Given the description of an element on the screen output the (x, y) to click on. 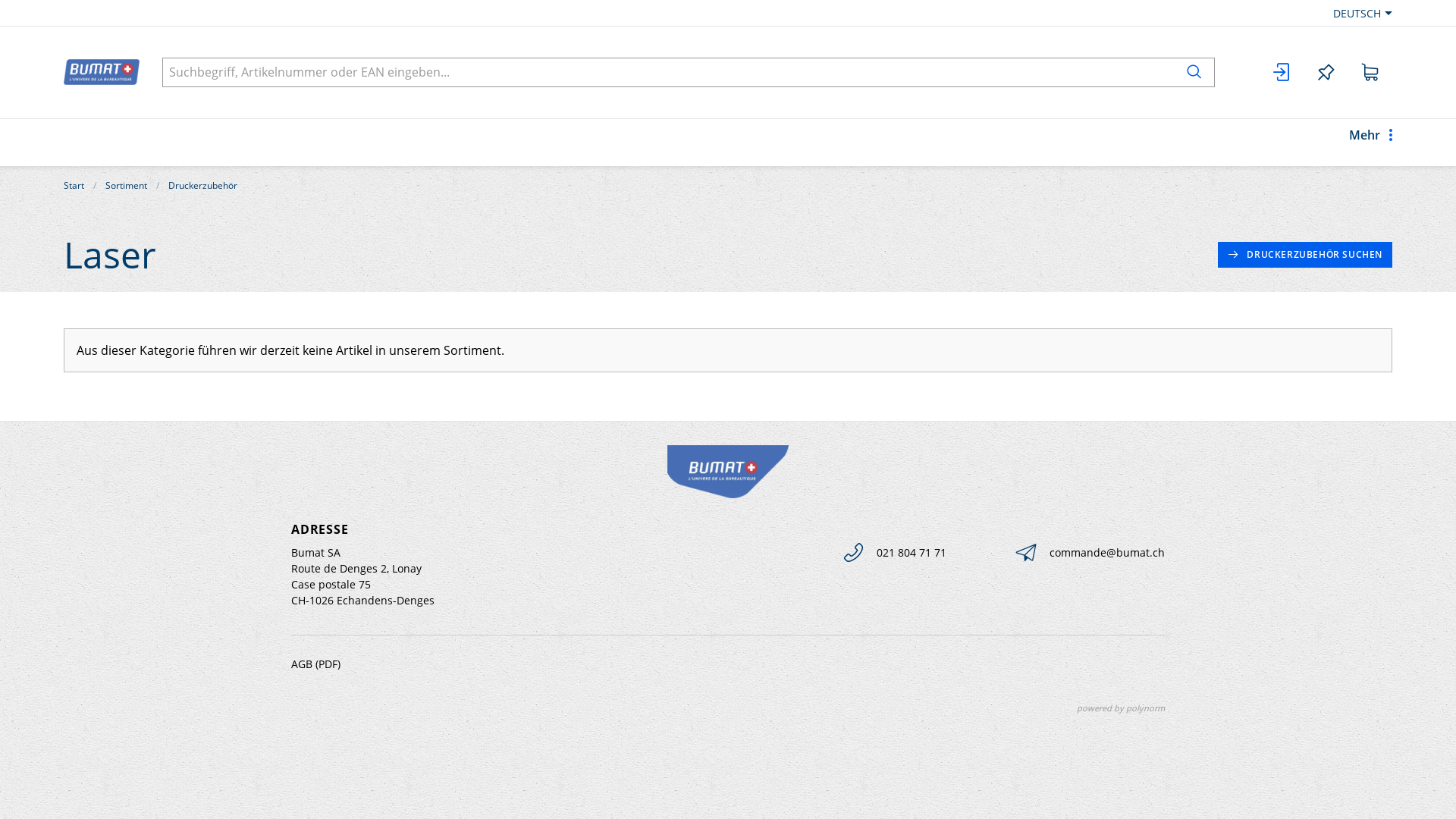
commande@bumat.ch Element type: text (1089, 552)
AGB (PDF) Element type: text (315, 663)
Start Element type: text (73, 184)
021 804 71 71 Element type: text (893, 552)
Anmelden Element type: hover (1282, 72)
Merkliste Element type: hover (1326, 72)
powered by polynorm Element type: text (1120, 707)
Sortiment Element type: text (126, 184)
Warenkorb Element type: hover (1370, 72)
Mehr Element type: text (1370, 142)
